Given the description of an element on the screen output the (x, y) to click on. 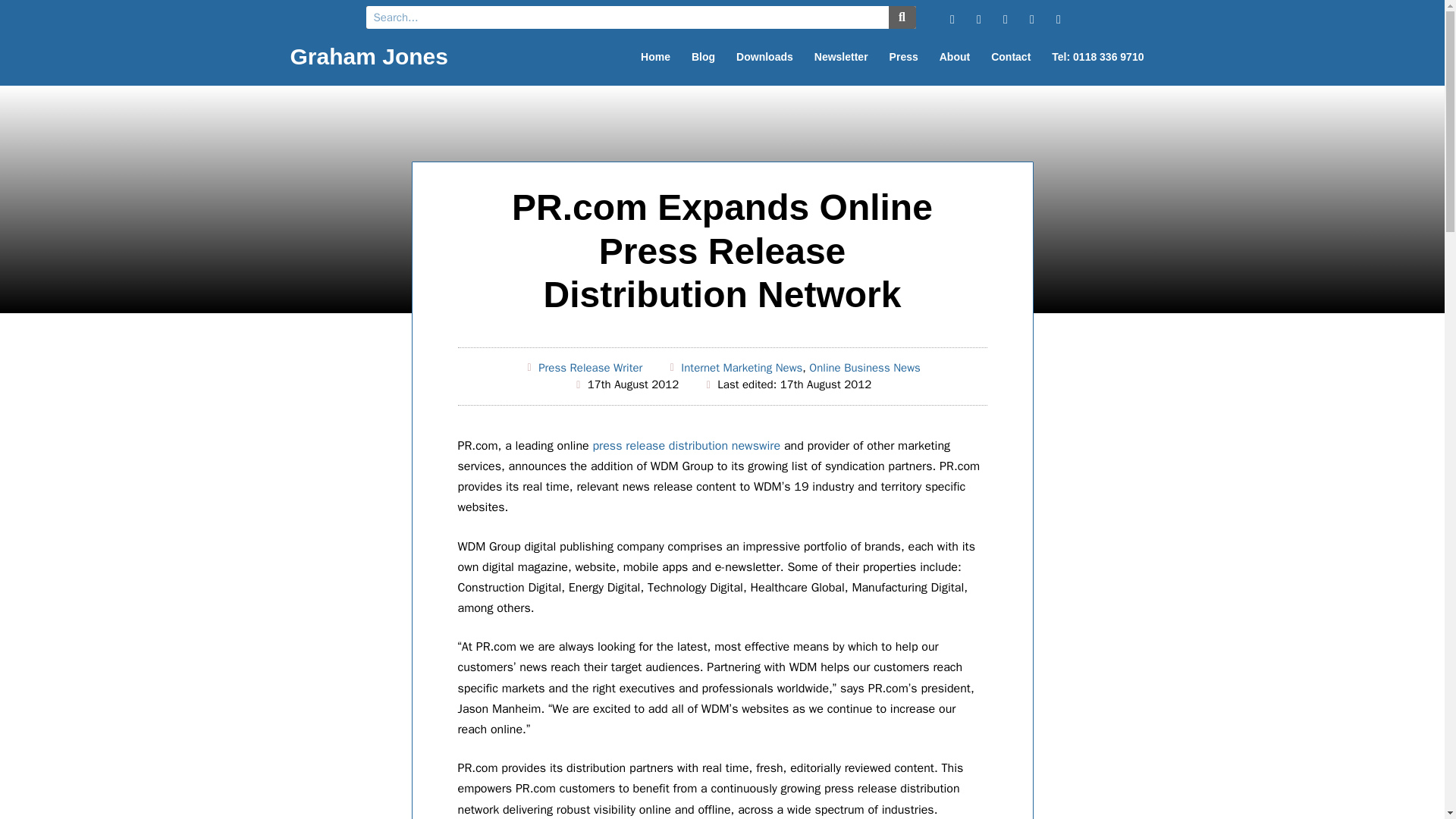
Blog (703, 56)
Contact (1010, 56)
Downloads (764, 56)
Press (903, 56)
Home (655, 56)
About (953, 56)
Tel: 0118 336 9710 (1097, 56)
Newsletter (841, 56)
